Given the description of an element on the screen output the (x, y) to click on. 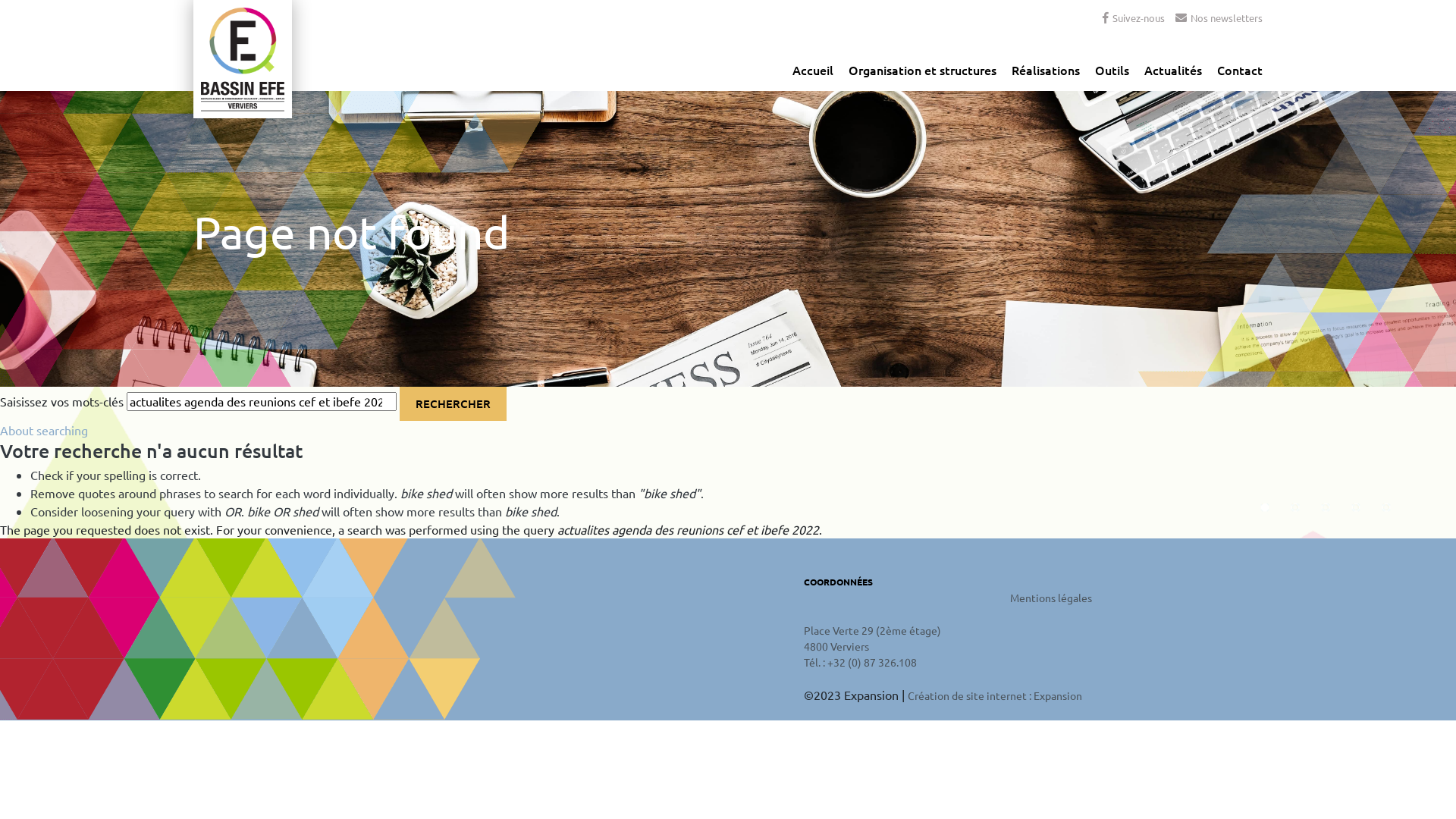
Suivez-nous Element type: text (1133, 17)
Nos newsletters Element type: text (1218, 17)
About searching Element type: text (43, 428)
Accueil Element type: text (812, 73)
Rechercher Element type: text (452, 403)
